Given the description of an element on the screen output the (x, y) to click on. 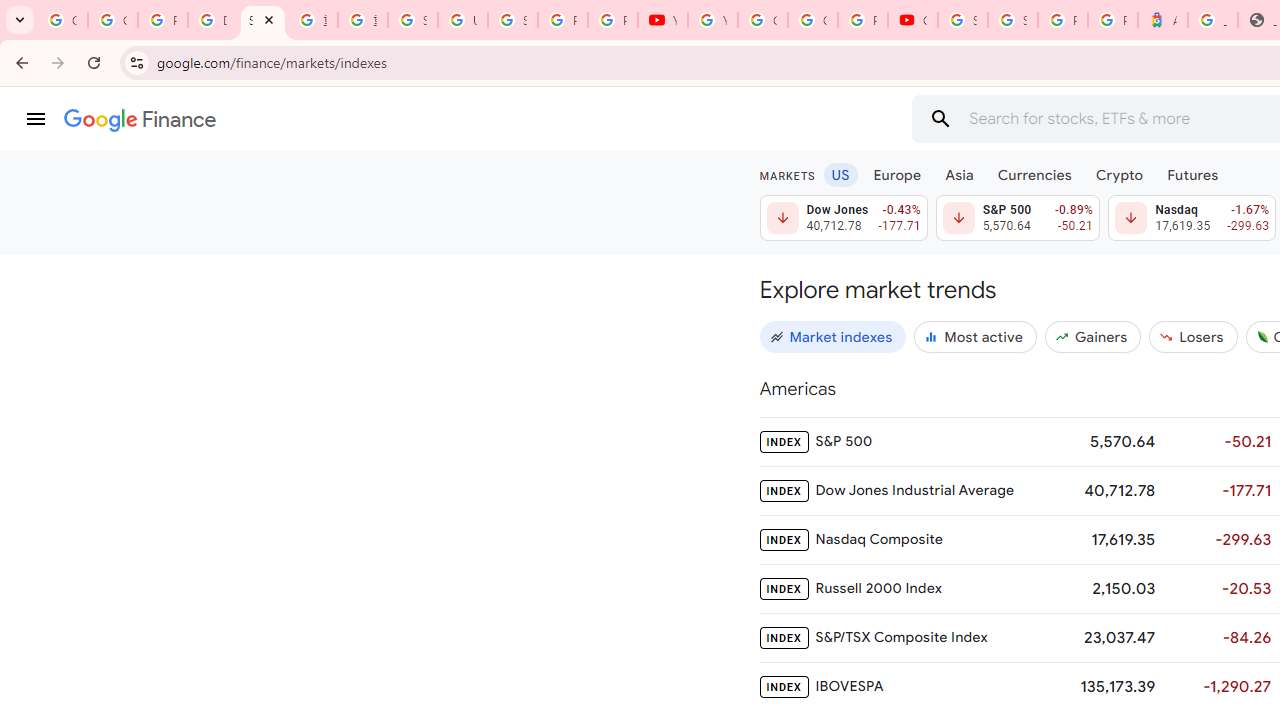
Finance (140, 120)
Most active (975, 336)
Nasdaq 17,619.35 Down by 1.67% -299.63 (1192, 218)
Privacy Checkup (612, 20)
YouTube (662, 20)
Stock Market Indexes - Google Finance (262, 20)
Market indexes (833, 336)
Asia (958, 174)
